Given the description of an element on the screen output the (x, y) to click on. 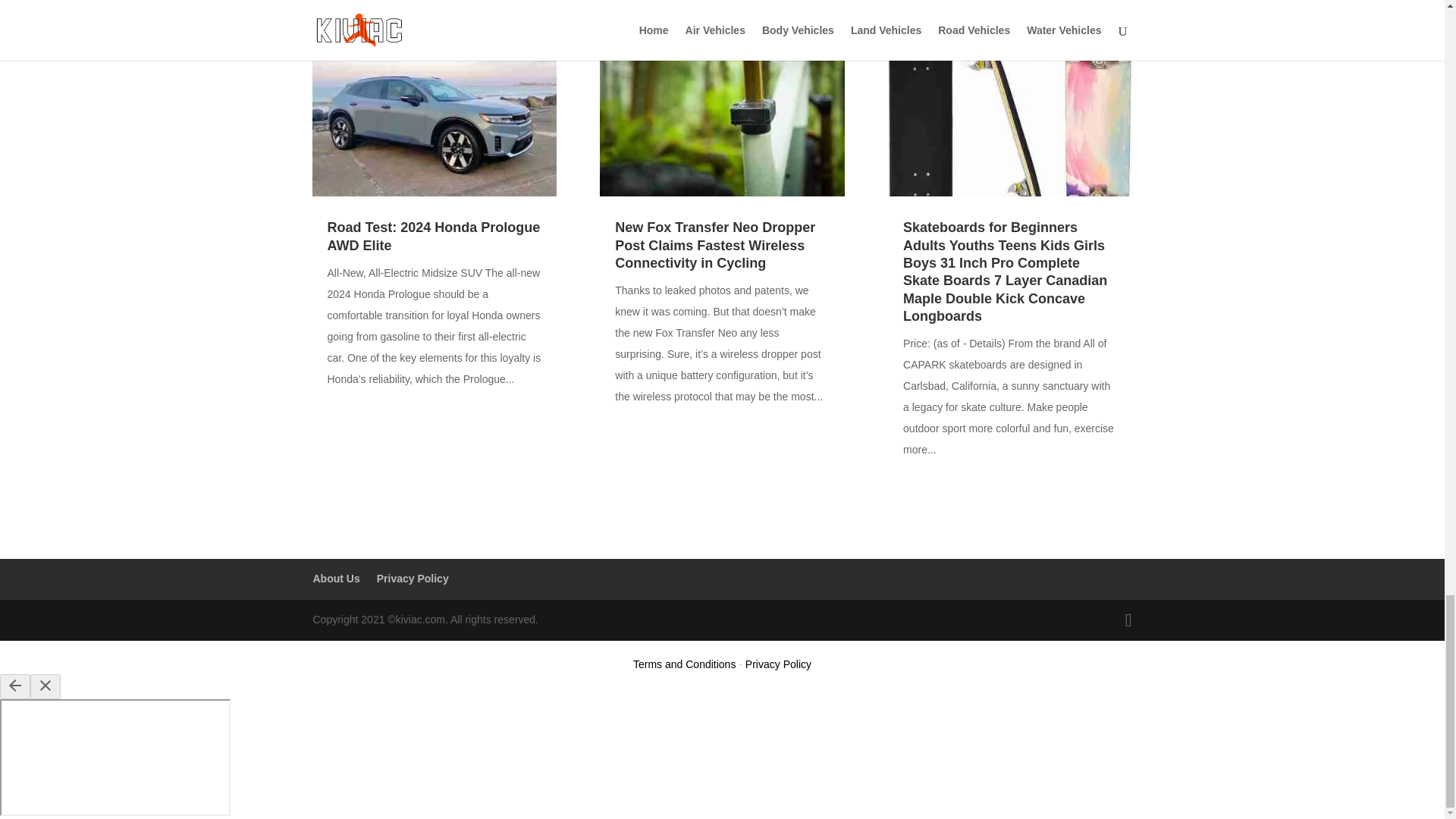
About Us (336, 578)
Privacy Policy (777, 664)
Road Test: 2024 Honda Prologue AWD Elite (433, 236)
Terms and Conditions (684, 664)
Privacy Policy (412, 578)
